Given the description of an element on the screen output the (x, y) to click on. 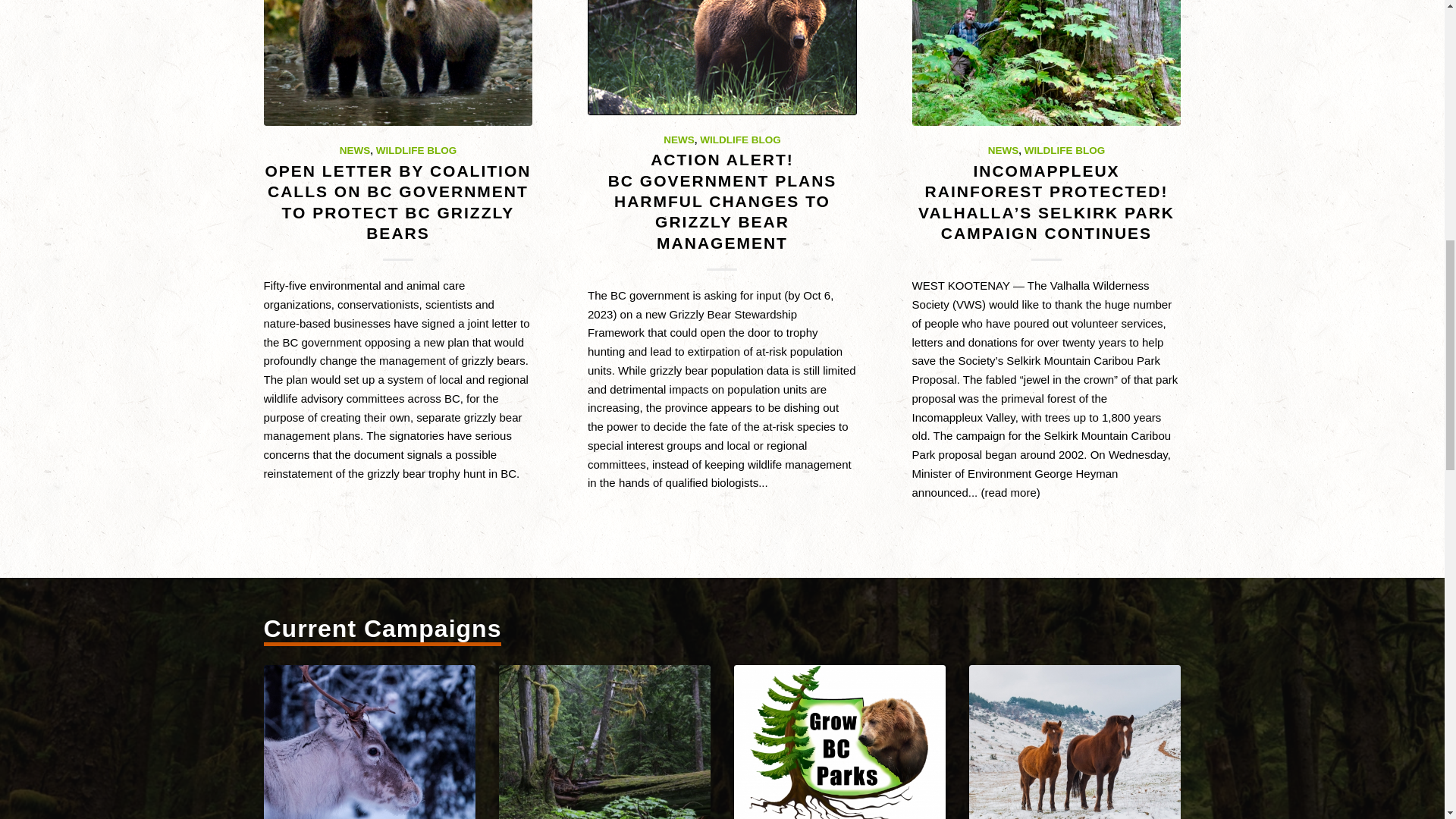
NEWS (1003, 150)
pexels-photo-2674905 (1074, 742)
NEWS (678, 139)
logo-for-bumper-sticker (839, 742)
WILDLIFE BLOG (416, 150)
temperate-rainforest (605, 742)
WILDLIFE BLOG (740, 139)
NEWS (355, 150)
photo-1457131666026-a591bab092dc (369, 742)
